Given the description of an element on the screen output the (x, y) to click on. 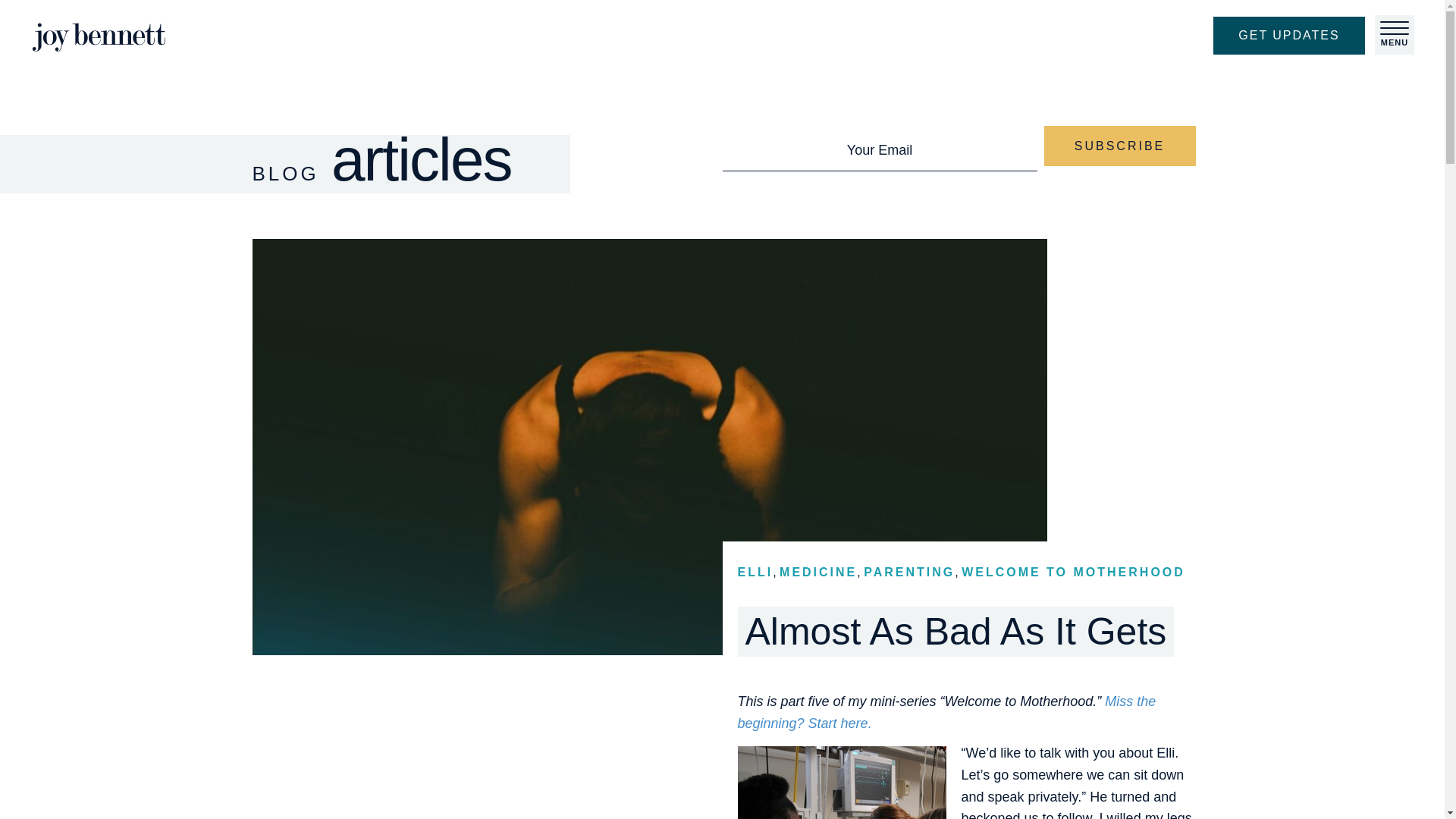
Miss the beginning? Start here. (946, 712)
Welcome to Motherhood (946, 712)
MEDICINE (817, 572)
WELCOME TO MOTHERHOOD (1072, 572)
Subscribe (1119, 146)
PARENTING (909, 572)
ELLI (754, 572)
NICU team and baby (840, 782)
Subscribe (1119, 146)
GET UPDATES (1288, 35)
